Given the description of an element on the screen output the (x, y) to click on. 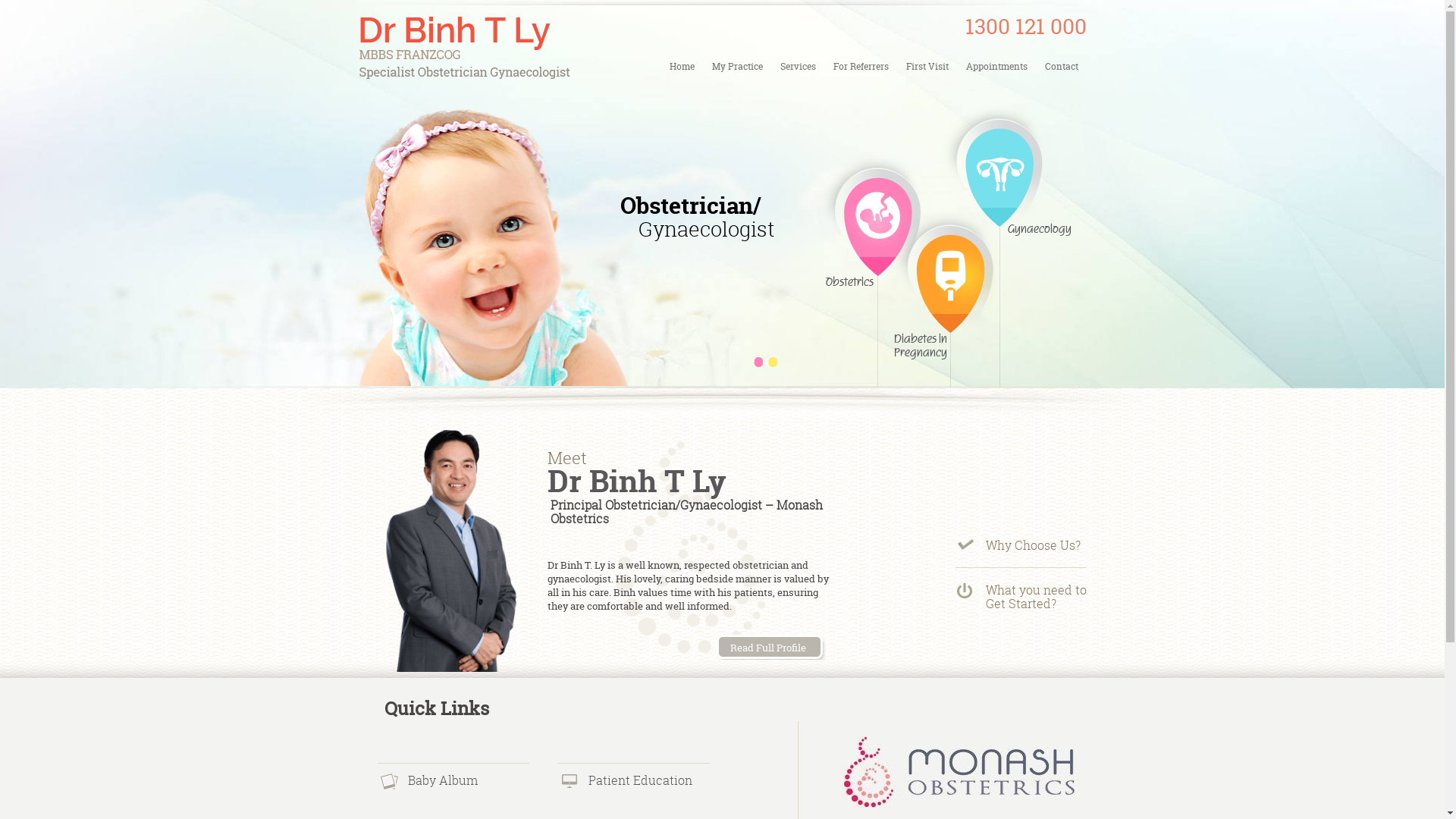
Why Choose Us? Element type: text (1032, 544)
For Referrers Element type: text (861, 66)
Contact Element type: text (1060, 66)
Appointments Element type: text (996, 66)
Read Full Profile Element type: text (776, 653)
Obstetrics Element type: text (875, 293)
Services Element type: text (797, 66)
Home Element type: text (681, 66)
Diabetes in
Pregnancy Element type: text (942, 349)
Patient Education Element type: text (640, 779)
Baby Album Element type: text (442, 779)
First Visit Element type: text (927, 66)
My Practice Element type: text (737, 66)
Dr Binh T Ly Element type: text (636, 481)
Gynaecology Element type: text (998, 250)
What you need to
Get Started? Element type: text (1035, 596)
